Given the description of an element on the screen output the (x, y) to click on. 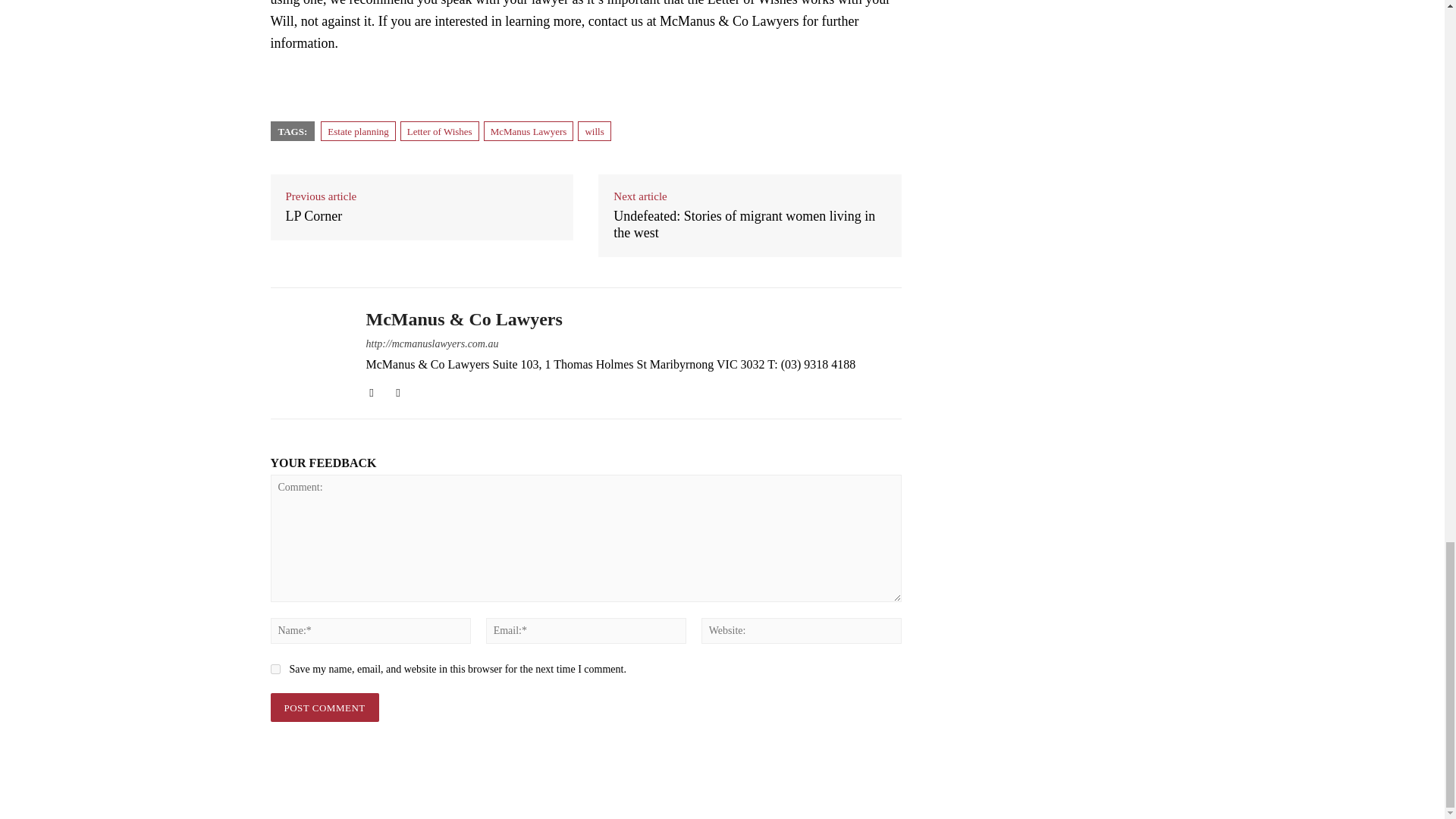
Post Comment (323, 707)
yes (274, 669)
